Given the description of an element on the screen output the (x, y) to click on. 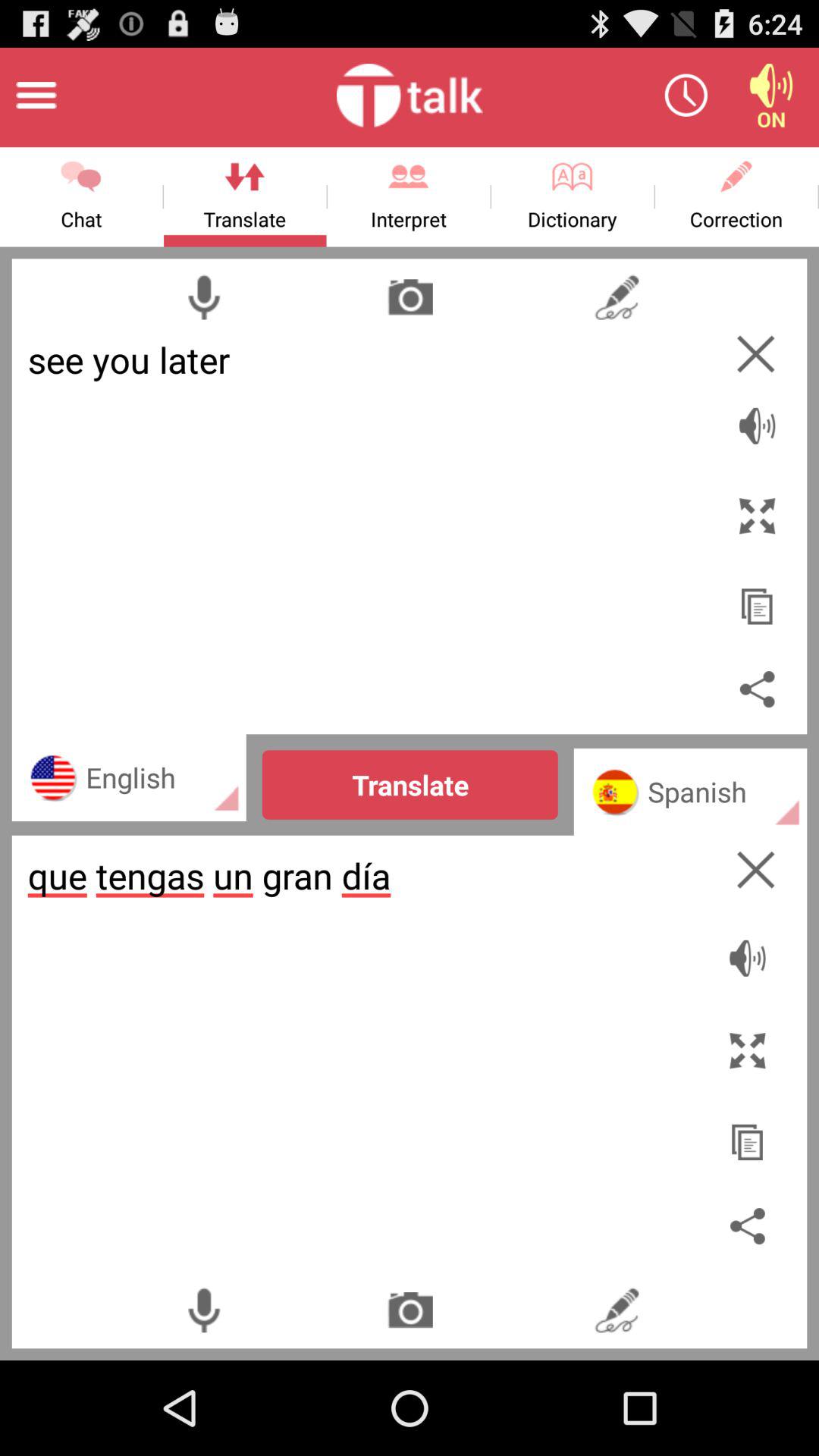
camera (410, 1309)
